Given the description of an element on the screen output the (x, y) to click on. 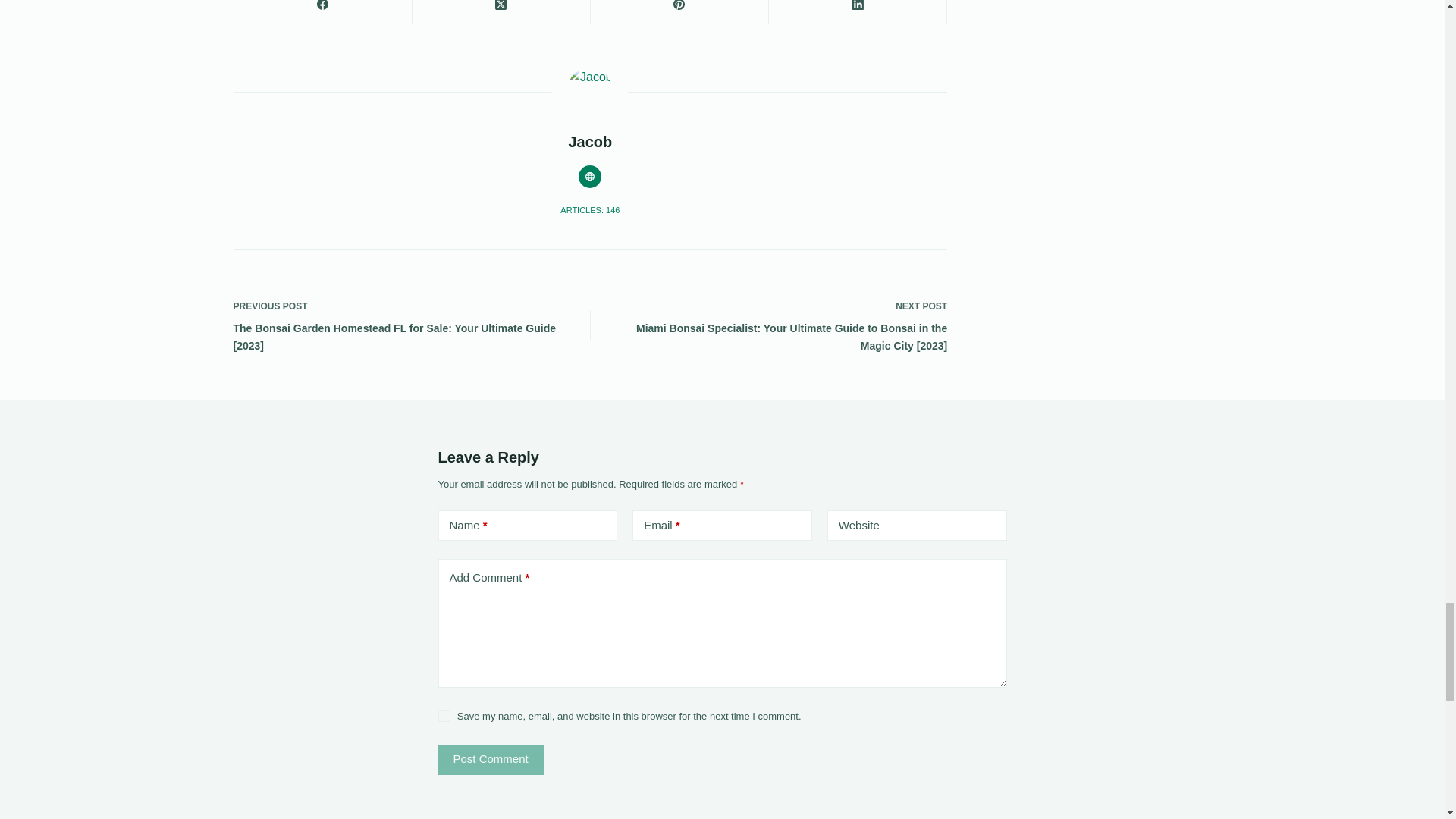
yes (443, 715)
